Given the description of an element on the screen output the (x, y) to click on. 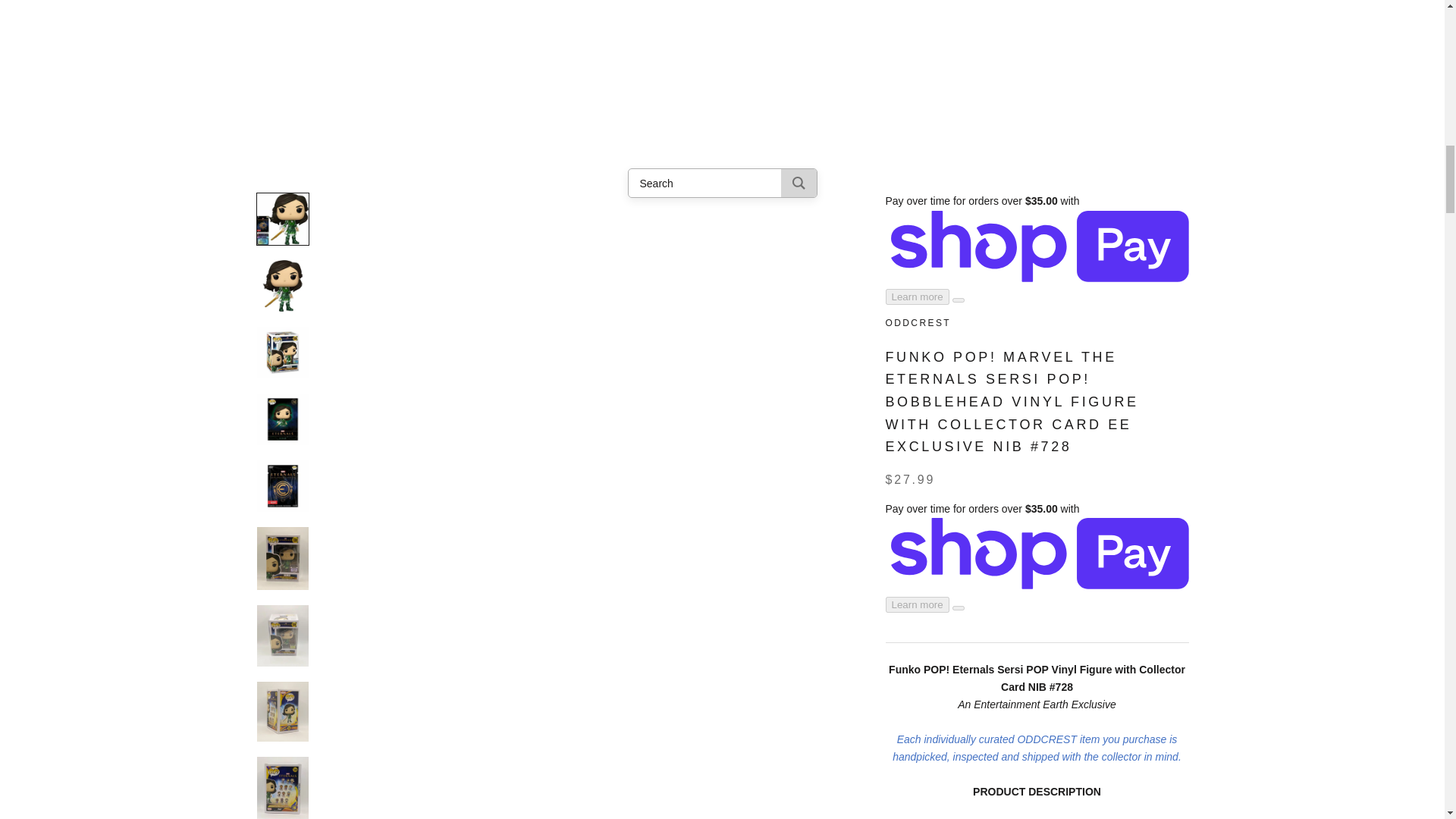
1 (938, 193)
